Given the description of an element on the screen output the (x, y) to click on. 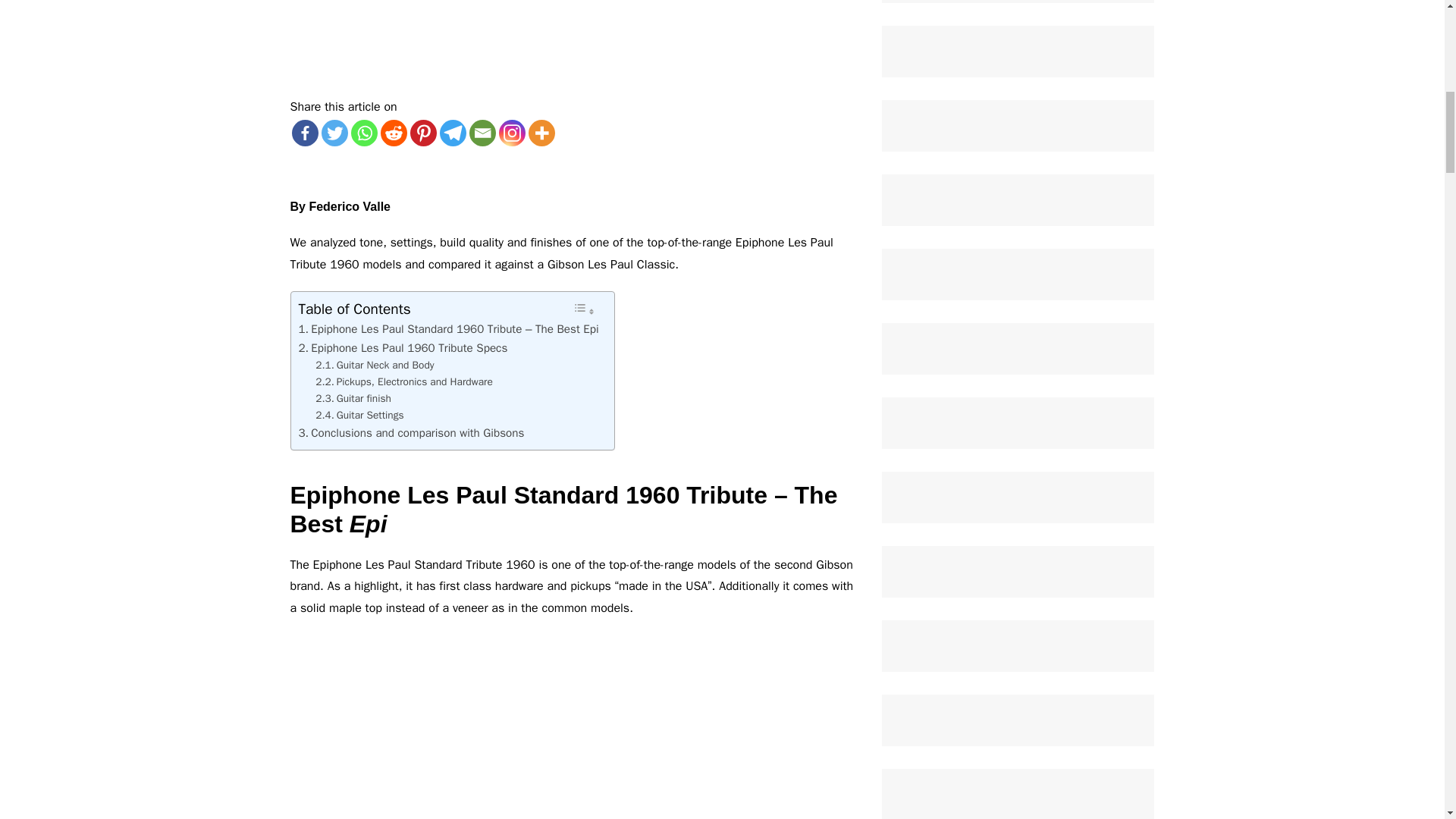
Whatsapp (363, 132)
Epiphone Les Paul 1960 Tribute Specs (403, 348)
Epiphone Les Paul 1960 Tribute Specs (403, 348)
Guitar Settings (359, 415)
Email (481, 132)
Facebook (304, 132)
Telegram (452, 132)
Guitar Neck and Body (374, 365)
Reddit (393, 132)
More (540, 132)
